Given the description of an element on the screen output the (x, y) to click on. 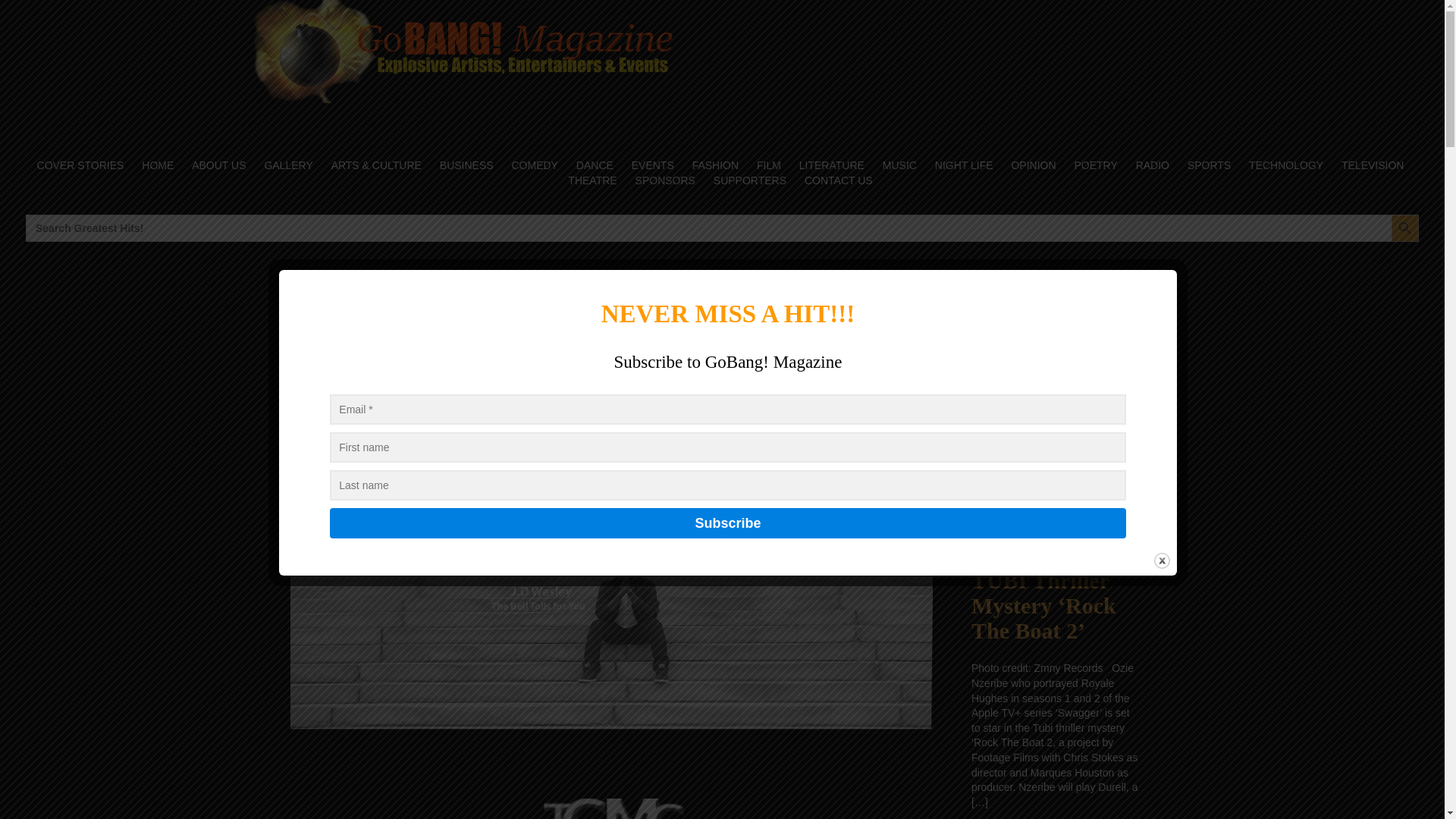
RADIO (1152, 164)
OPINION (1033, 164)
FASHION (715, 164)
MUSIC (899, 164)
THEATRE (592, 180)
LITERATURE (830, 164)
NIGHT LIFE (964, 164)
COVER STORIES (80, 164)
TELEVISION (1372, 164)
ABOUT US (217, 164)
EVENTS (652, 164)
Close (1162, 560)
HOME (157, 164)
SPORTS (1208, 164)
TECHNOLOGY (1285, 164)
